Given the description of an element on the screen output the (x, y) to click on. 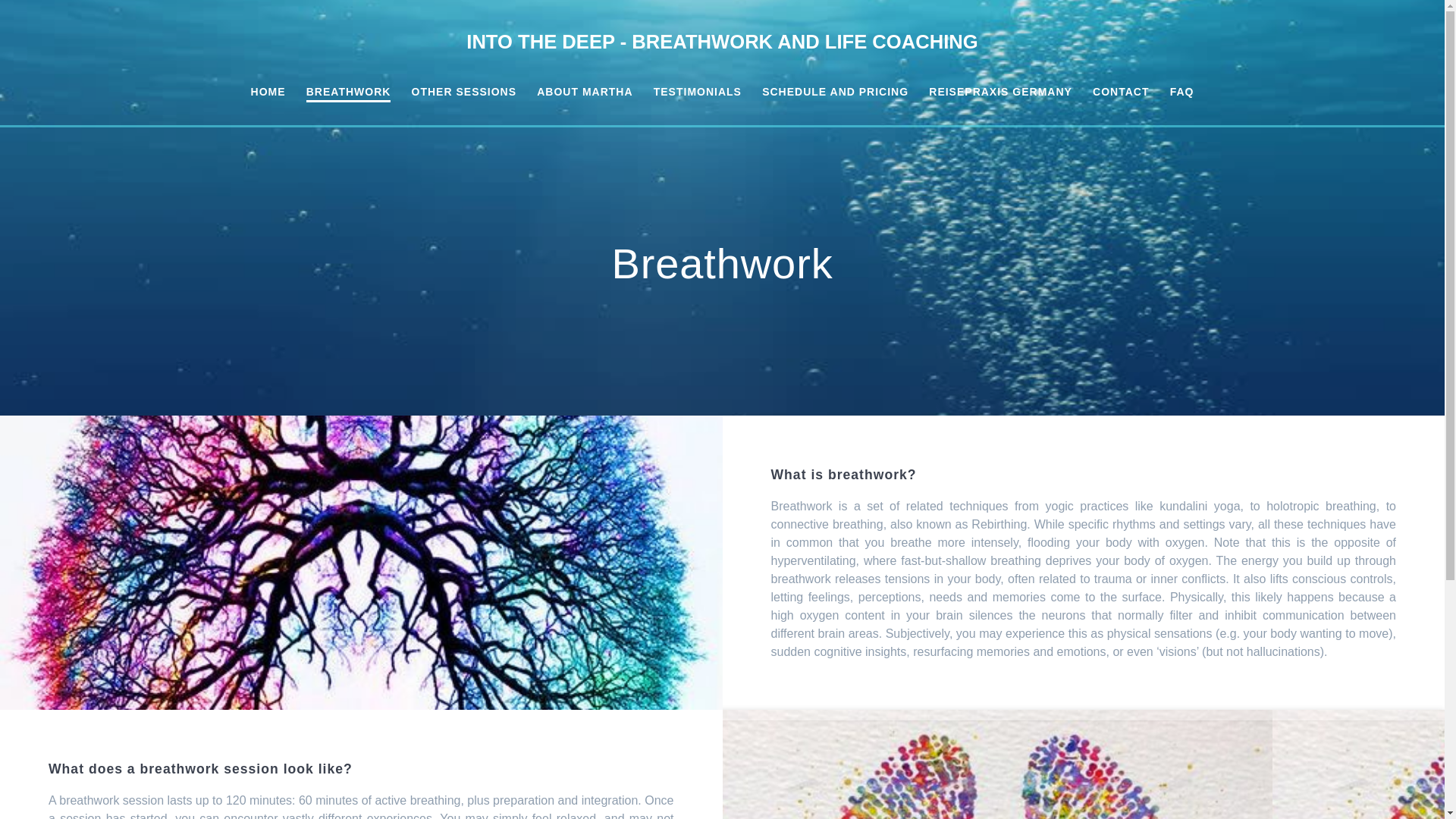
BREATHWORK (348, 92)
INTO THE DEEP - BREATHWORK AND LIFE COACHING (720, 42)
HOME (267, 92)
TESTIMONIALS (697, 92)
SCHEDULE AND PRICING (834, 92)
FAQ (1181, 92)
CONTACT (1120, 92)
OTHER SESSIONS (464, 92)
ABOUT MARTHA (584, 92)
REISEPRAXIS GERMANY (999, 92)
